Given the description of an element on the screen output the (x, y) to click on. 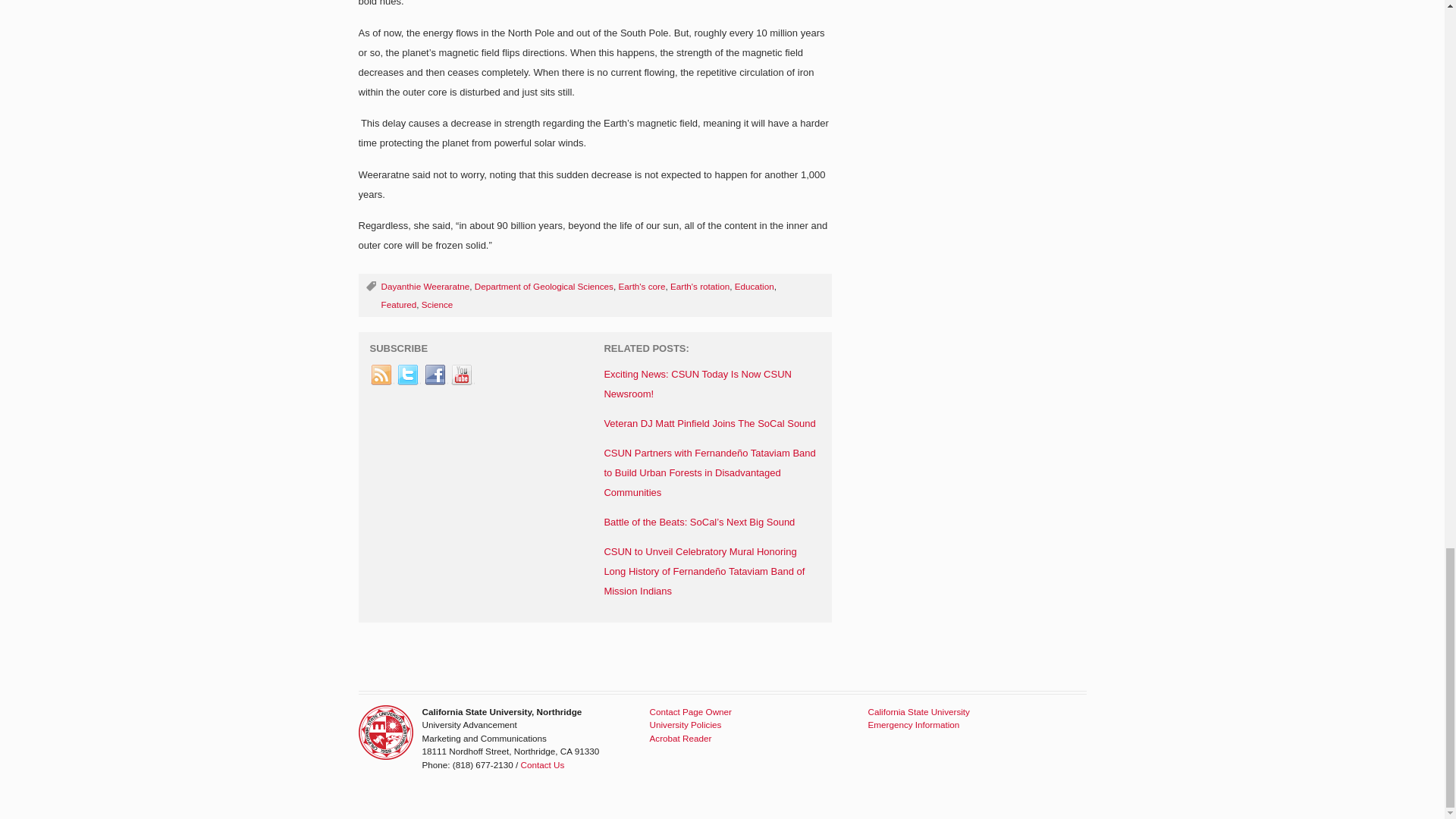
Earth's core (641, 286)
Earth's rotation (699, 286)
Exciting News: CSUN Today Is Now CSUN Newsroom! (698, 383)
RSS (381, 374)
Department of Geological Sciences (543, 286)
Twitter (408, 374)
Facebook (435, 374)
YouTube (461, 374)
Featured (398, 304)
Veteran DJ Matt Pinfield Joins The SoCal Sound (709, 423)
